Given the description of an element on the screen output the (x, y) to click on. 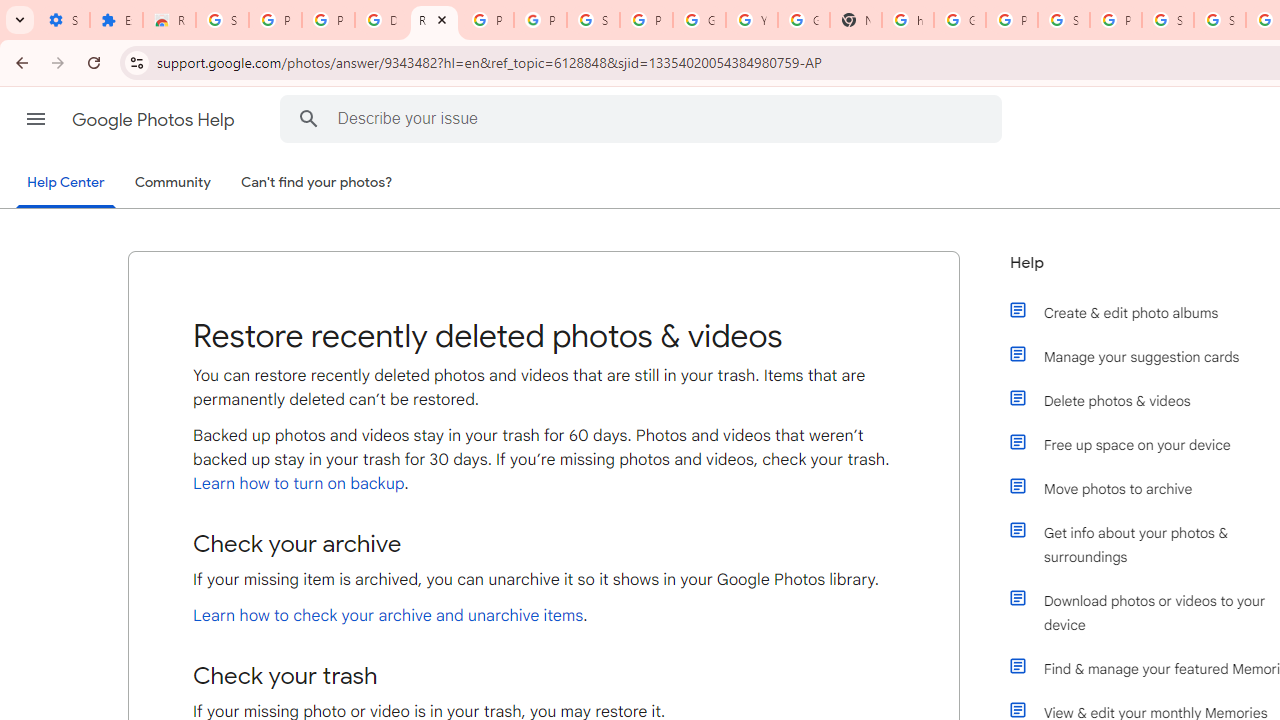
Community (171, 183)
Sign in - Google Accounts (222, 20)
Help Center (65, 183)
New Tab (855, 20)
Sign in - Google Accounts (1167, 20)
Google Account (699, 20)
